Given the description of an element on the screen output the (x, y) to click on. 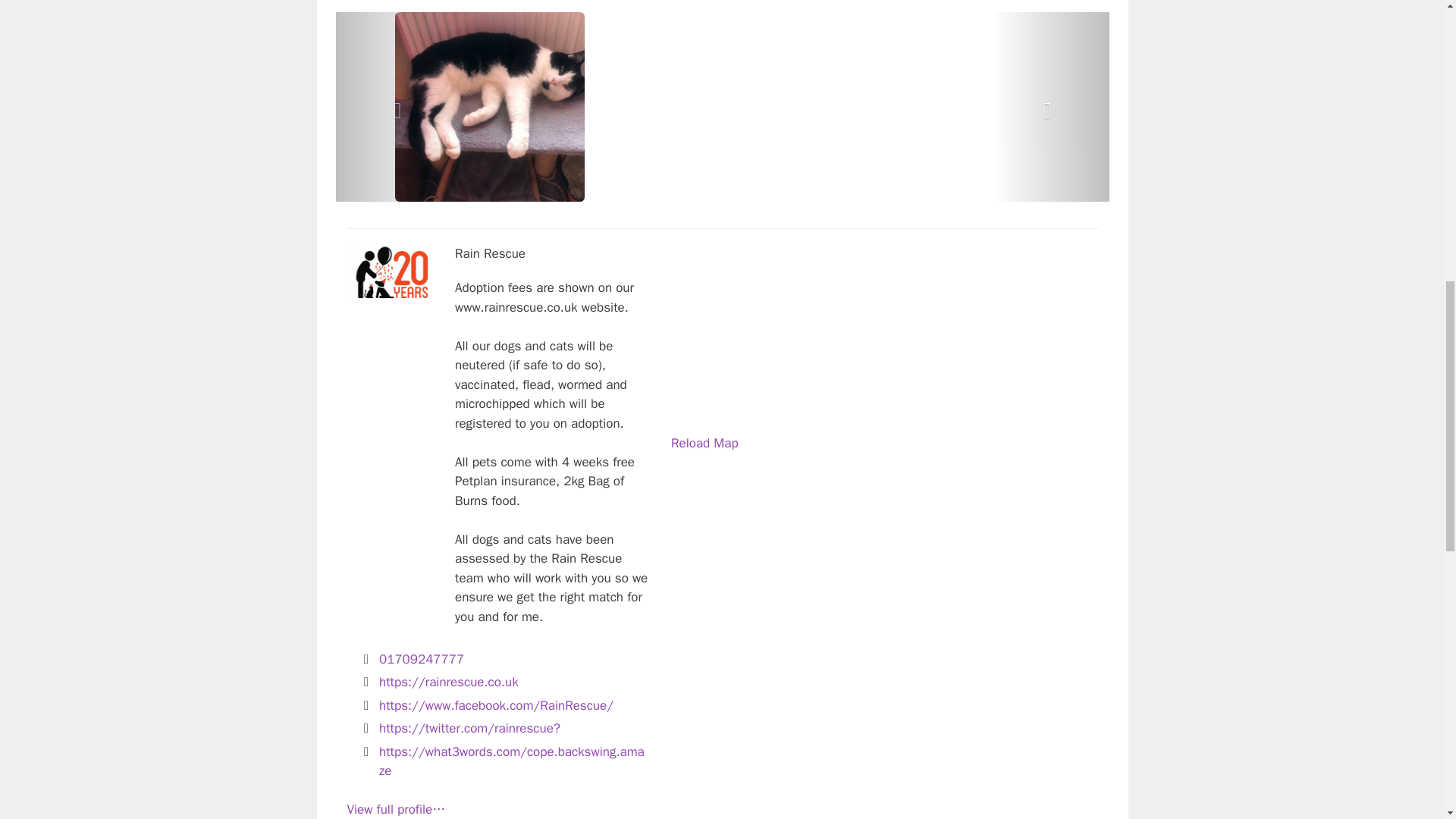
Reload Map (704, 442)
Screenshot 2022-08-09 at 00.20.06 (389, 274)
01709247777 (421, 659)
